Given the description of an element on the screen output the (x, y) to click on. 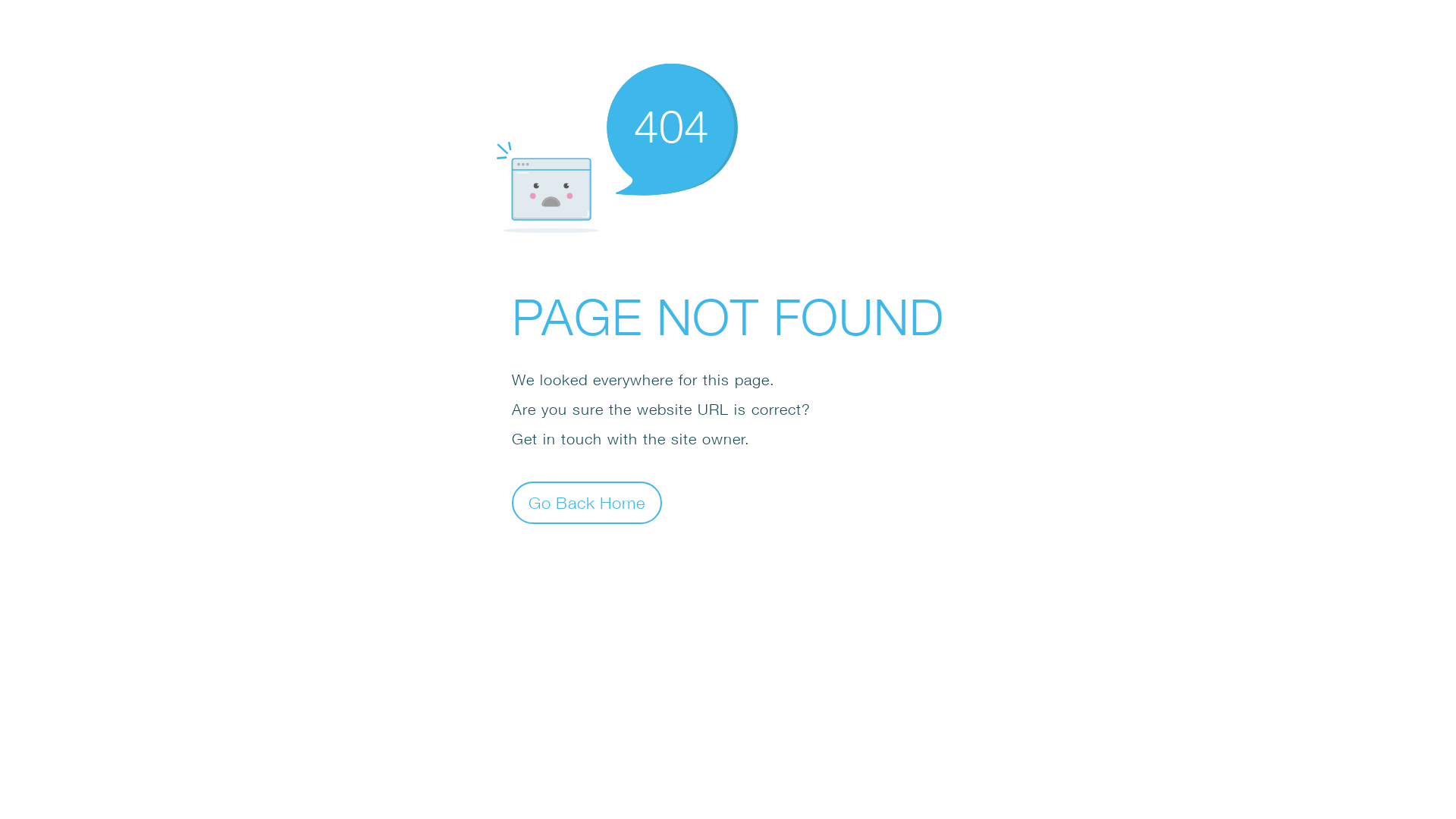
Go Back Home Element type: text (586, 502)
